Given the description of an element on the screen output the (x, y) to click on. 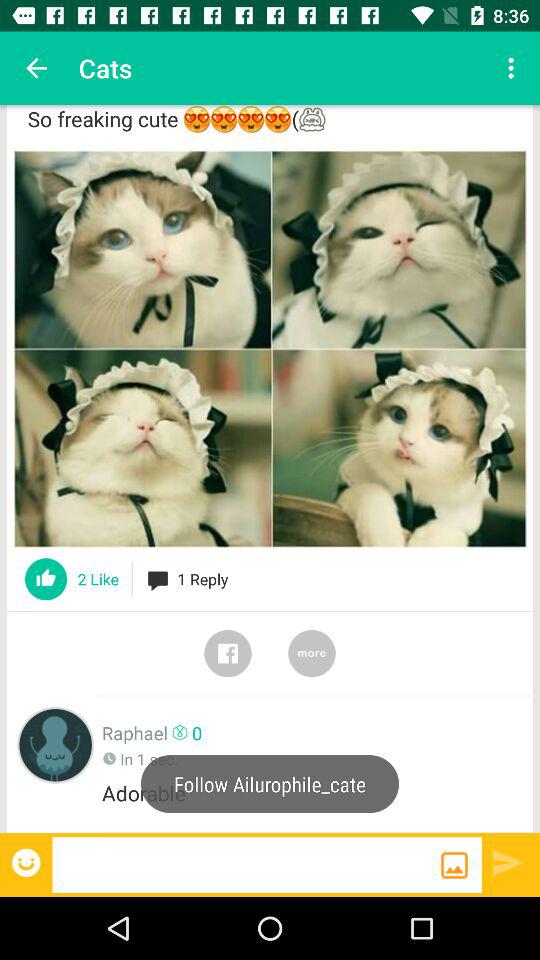
select icon to the left of cats icon (36, 68)
